Given the description of an element on the screen output the (x, y) to click on. 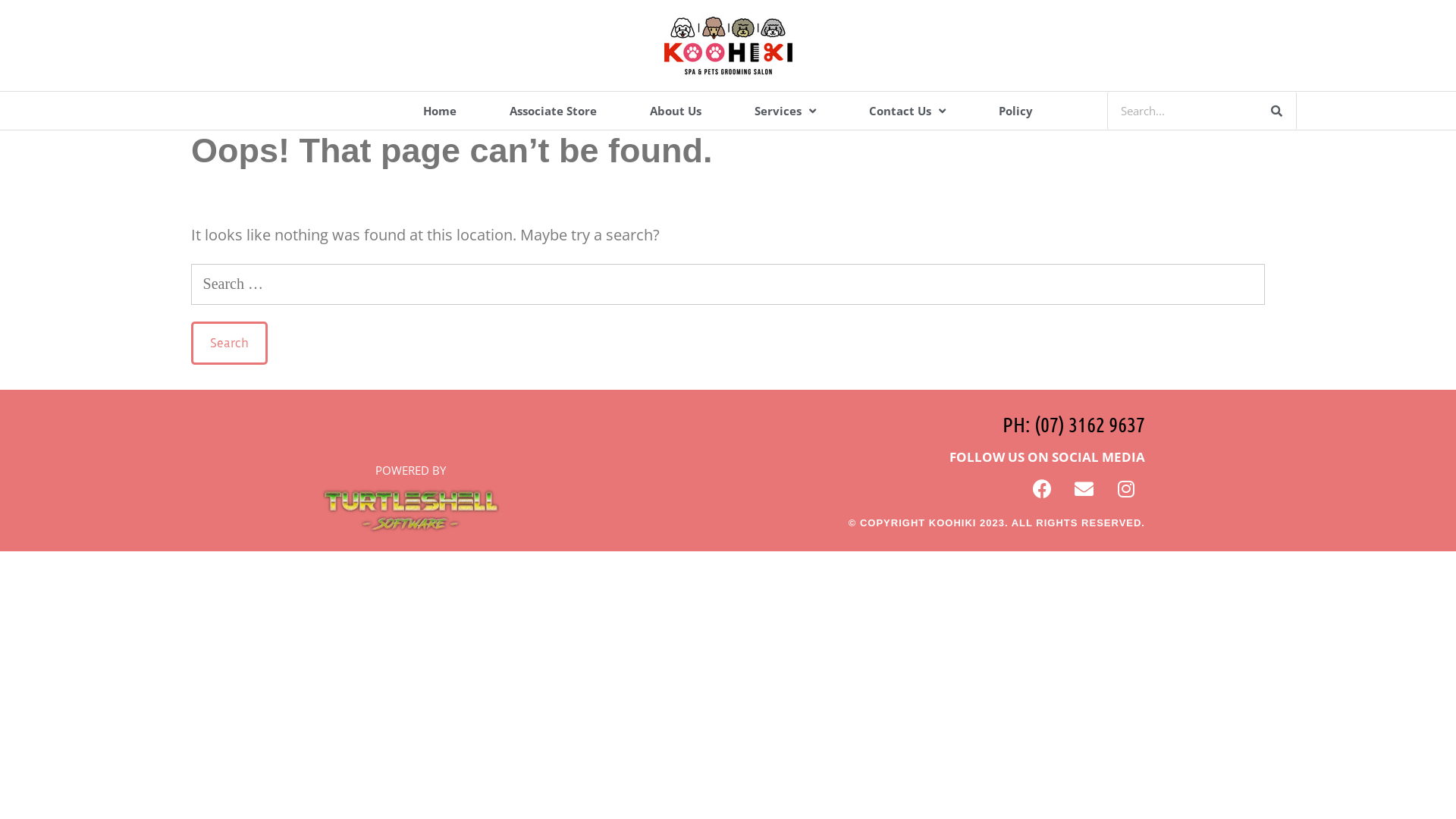
Contact Us Element type: text (907, 110)
Services Element type: text (785, 110)
About Us Element type: text (675, 110)
Policy Element type: text (1015, 110)
Search Element type: text (229, 342)
Home Element type: text (439, 110)
PH: (07) 3162 9637 Element type: text (1073, 423)
Associate Store Element type: text (553, 110)
